Given the description of an element on the screen output the (x, y) to click on. 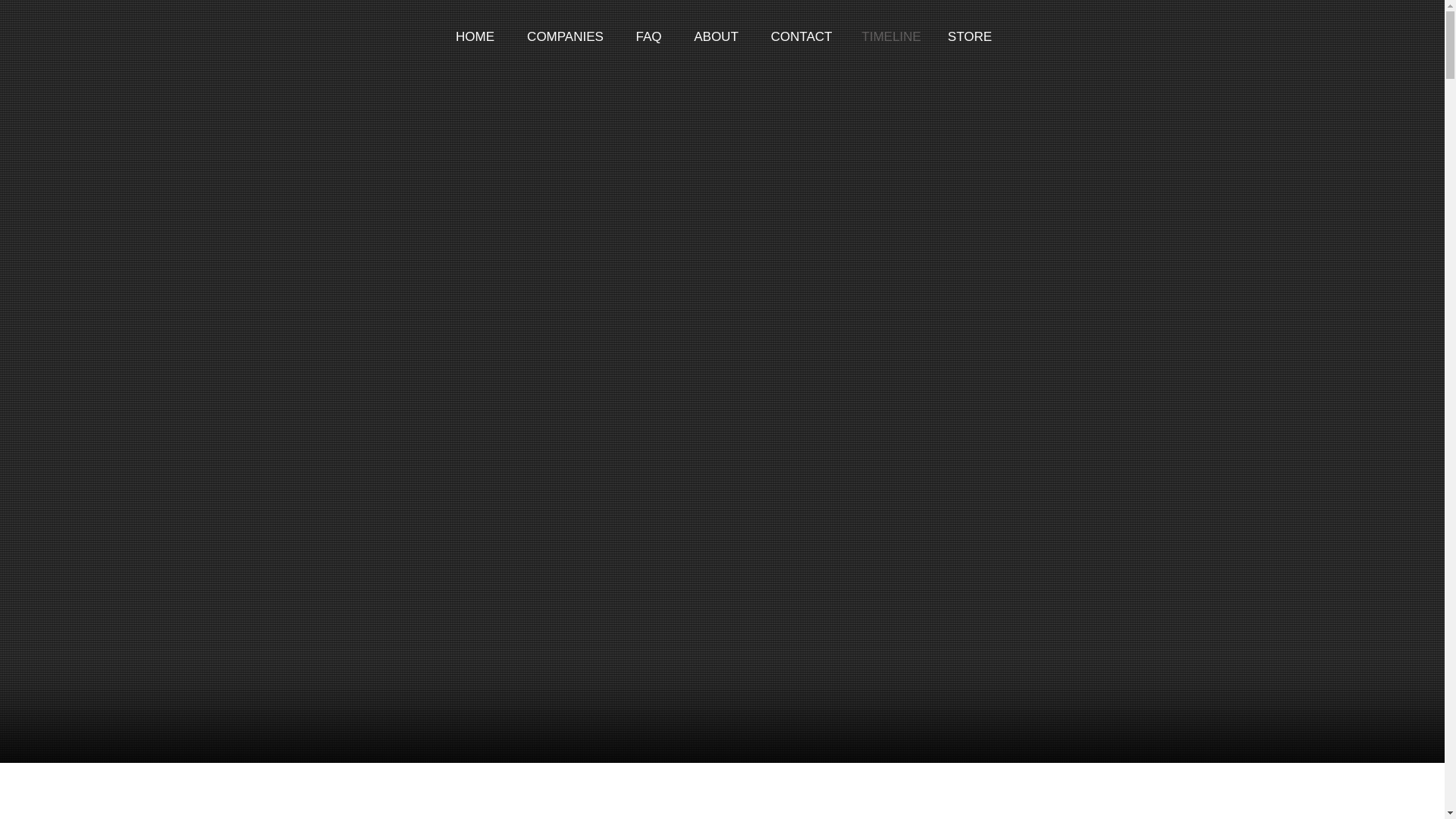
COMPANIES (565, 36)
FAQ (647, 36)
STORE (970, 36)
HOME (475, 36)
CONTACT (800, 36)
TIMELINE (890, 36)
ABOUT (716, 36)
